Given the description of an element on the screen output the (x, y) to click on. 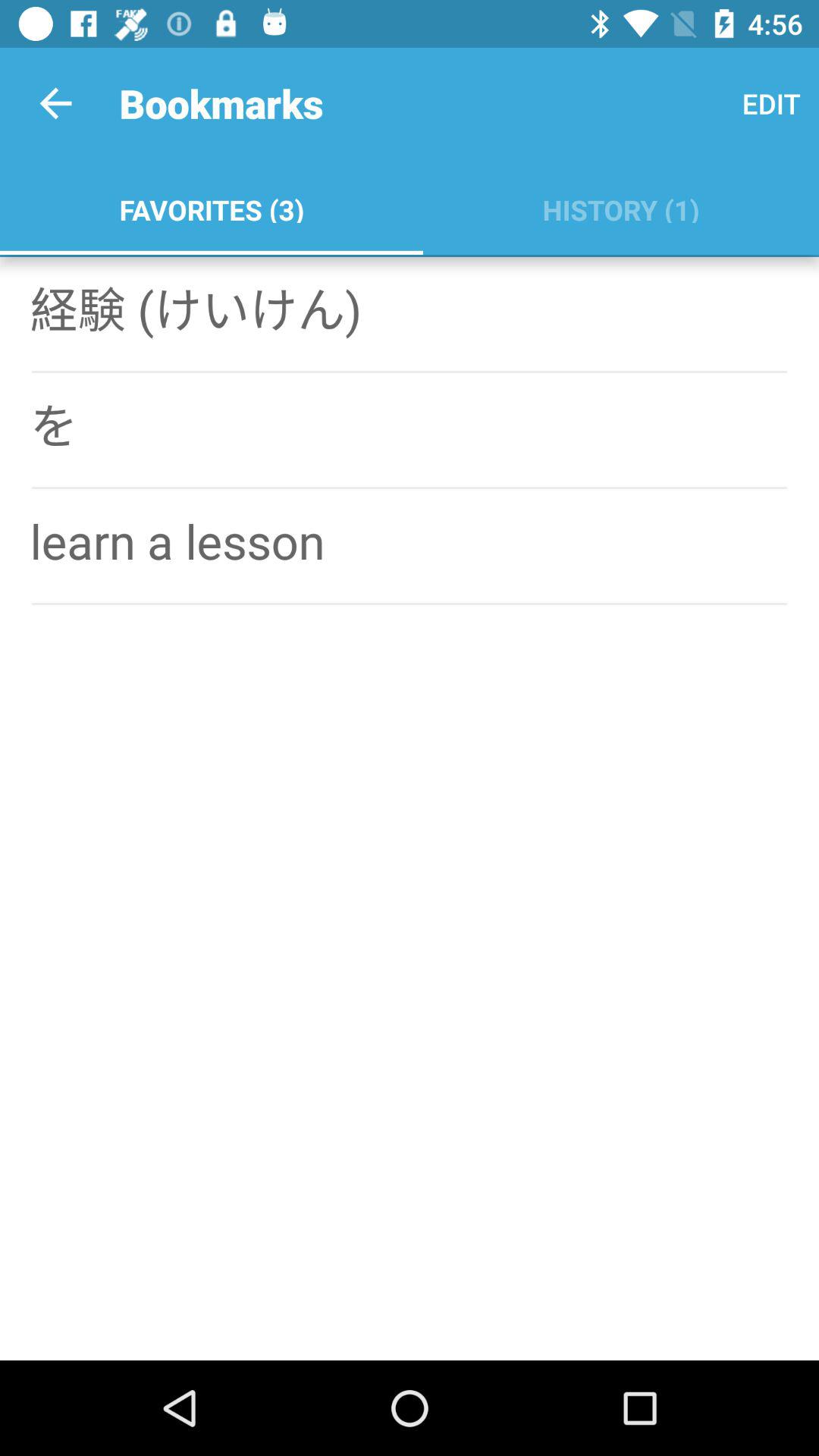
select the icon below the edit item (621, 206)
